Given the description of an element on the screen output the (x, y) to click on. 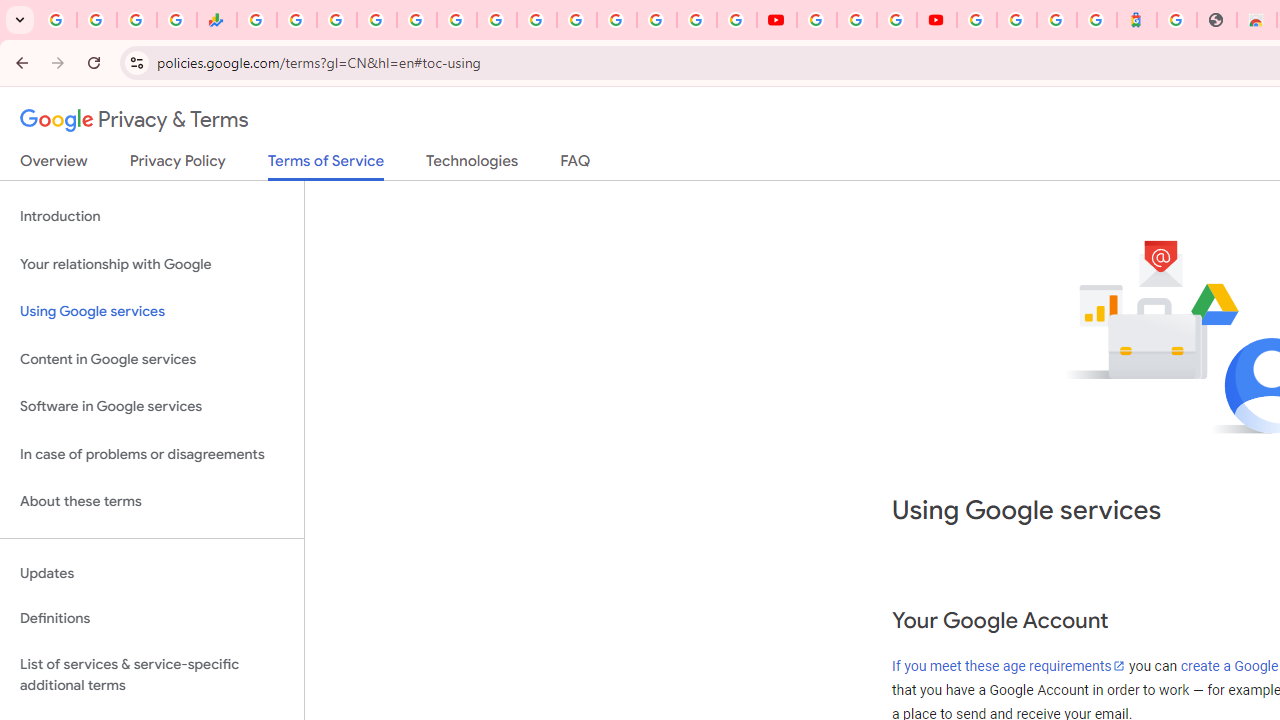
In case of problems or disagreements (152, 453)
Sign in - Google Accounts (977, 20)
Sign in - Google Accounts (657, 20)
YouTube (817, 20)
Using Google services (152, 312)
Your relationship with Google (152, 263)
